Given the description of an element on the screen output the (x, y) to click on. 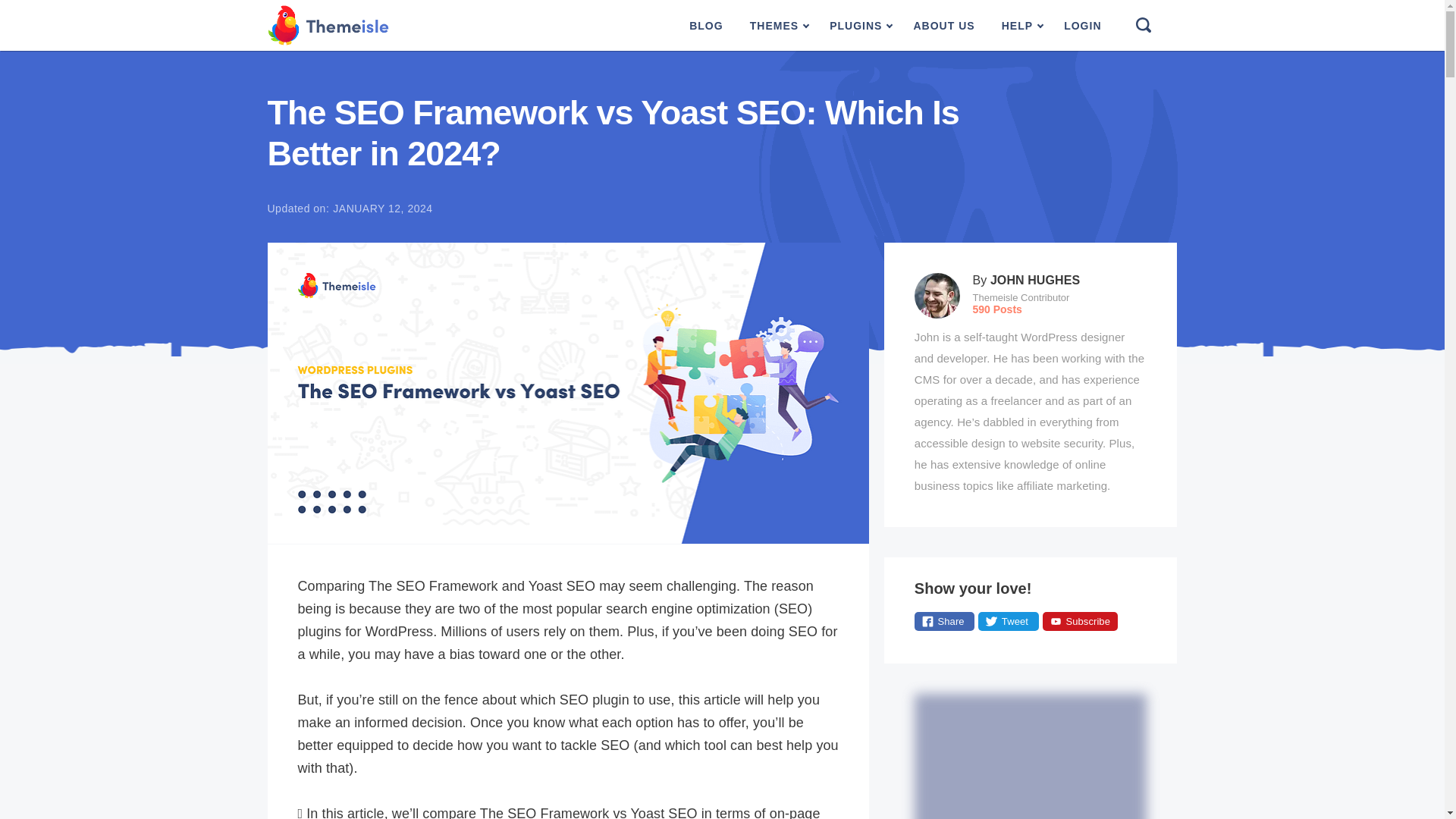
PLUGINS (857, 25)
BLOG (705, 25)
LOGIN (1082, 25)
HELP (1018, 25)
ABOUT US (943, 25)
THEMES (776, 25)
